Given the description of an element on the screen output the (x, y) to click on. 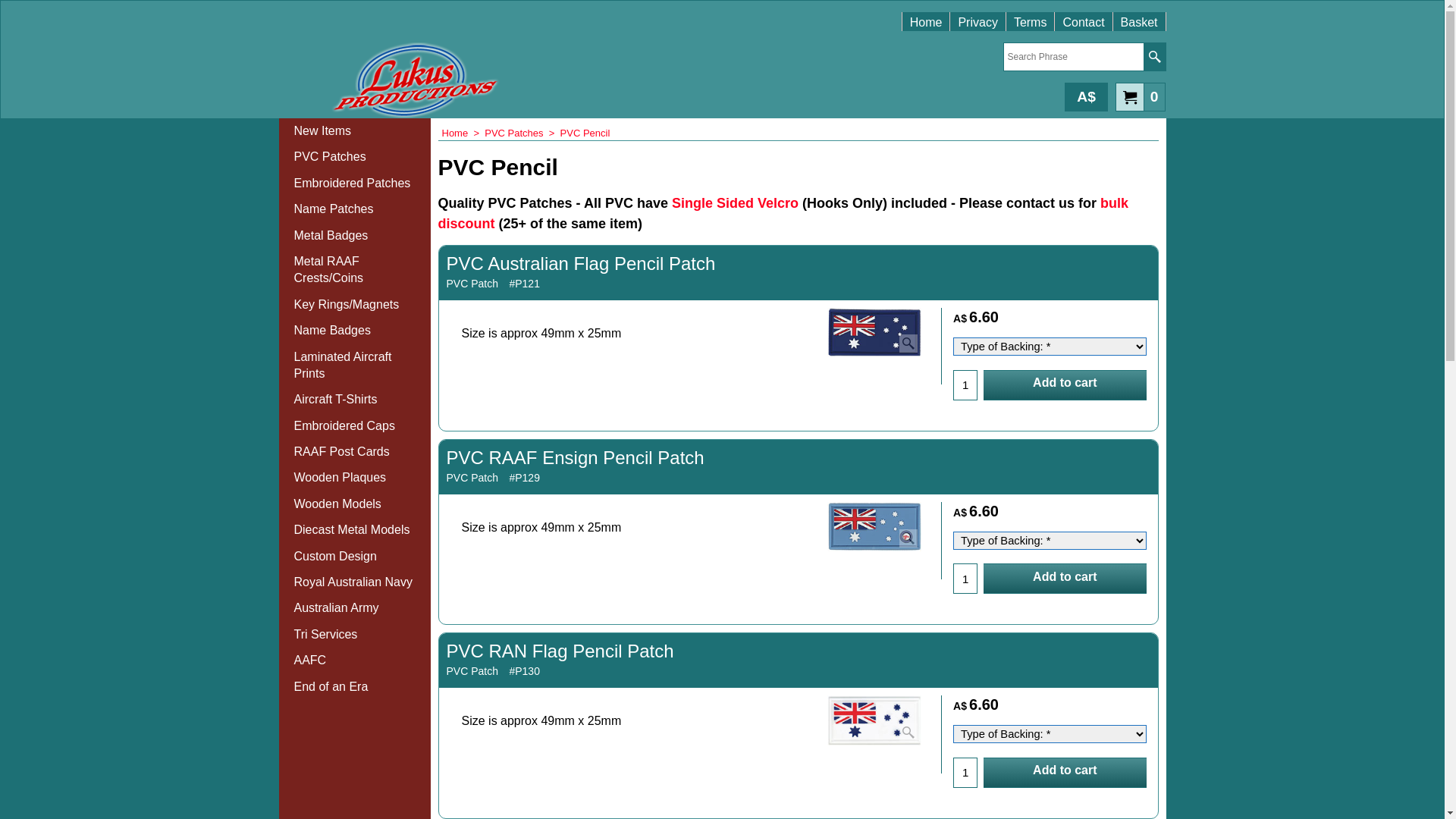
End of an Era Element type: text (354, 686)
Name Badges Element type: text (354, 330)
Wooden Plaques Element type: text (354, 477)
Embroidered Caps Element type: text (354, 426)
Home Element type: text (926, 15)
Add to cart Element type: text (1064, 384)
RAAF Post Cards Element type: text (354, 451)
Aircraft T-Shirts Element type: text (354, 399)
PVC Patches  >  Element type: text (521, 132)
Laminated Aircraft Prints Element type: text (354, 365)
AAFC Element type: text (354, 660)
Find Element type: hover (1154, 56)
1 Element type: text (964, 772)
Embroidered Patches Element type: text (354, 183)
Metal Badges Element type: text (354, 235)
PVC Patches Element type: text (354, 156)
1 Element type: text (964, 578)
New Items Element type: text (354, 131)
Key Rings/Magnets Element type: text (354, 304)
A$ Element type: text (1085, 96)
Diecast Metal Models Element type: text (354, 529)
1 Element type: text (964, 384)
Contact Element type: text (1082, 15)
Tri Services Element type: text (354, 634)
Custom Design Element type: text (354, 556)
Terms Element type: text (1030, 15)
Basket Element type: text (1139, 15)
Home  >  Element type: text (462, 132)
Add to cart Element type: text (1064, 772)
Name Patches Element type: text (354, 209)
Metal RAAF Crests/Coins Element type: text (354, 269)
Privacy Element type: text (977, 15)
Wooden Models Element type: text (354, 504)
Add to cart Element type: text (1064, 578)
Royal Australian Navy Element type: text (354, 582)
0 Element type: text (1140, 95)
Australian Army Element type: text (354, 608)
